Given the description of an element on the screen output the (x, y) to click on. 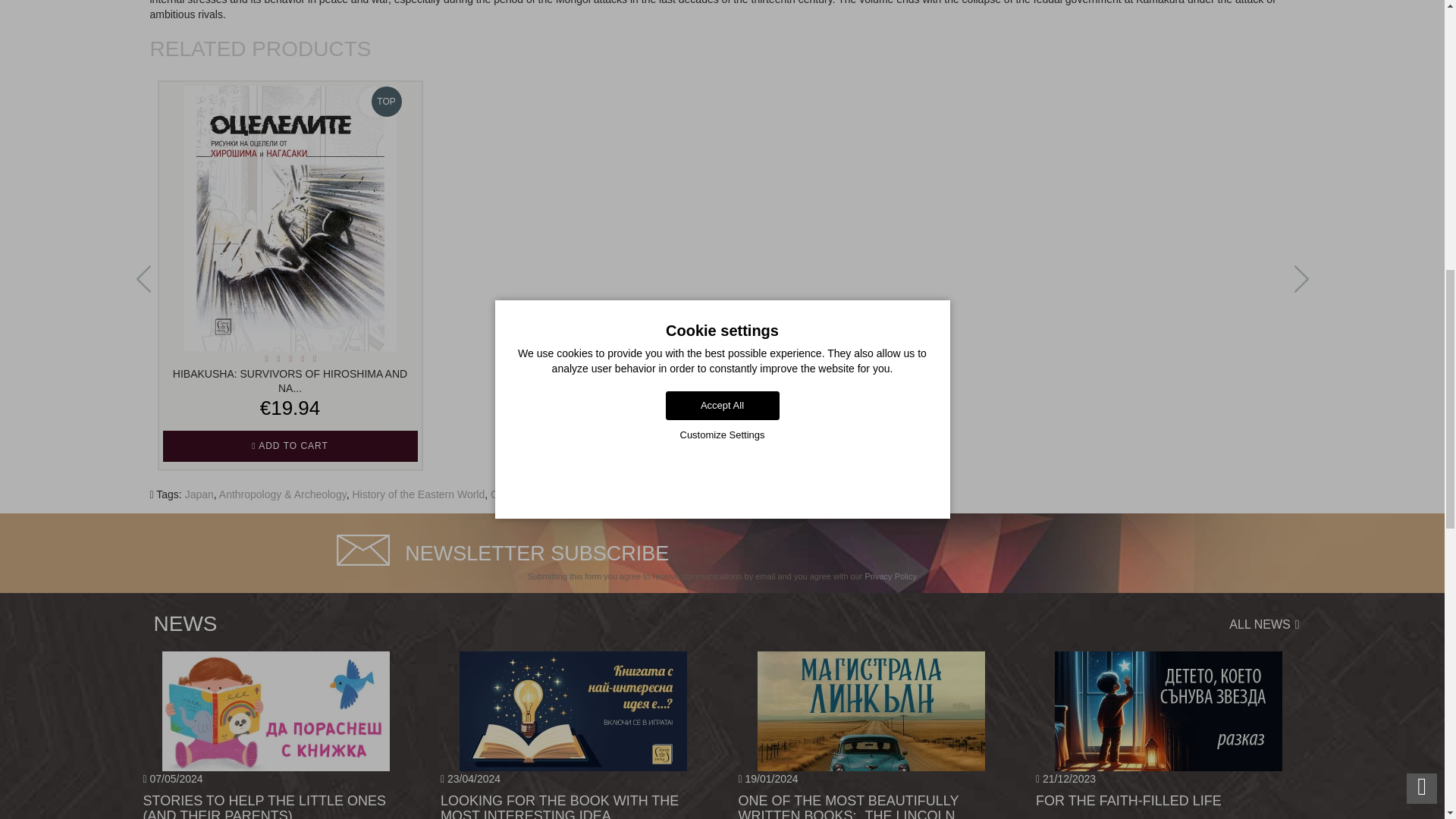
Hibakusha: Survivors of Hiroshima and Nagasaki (289, 218)
